Given the description of an element on the screen output the (x, y) to click on. 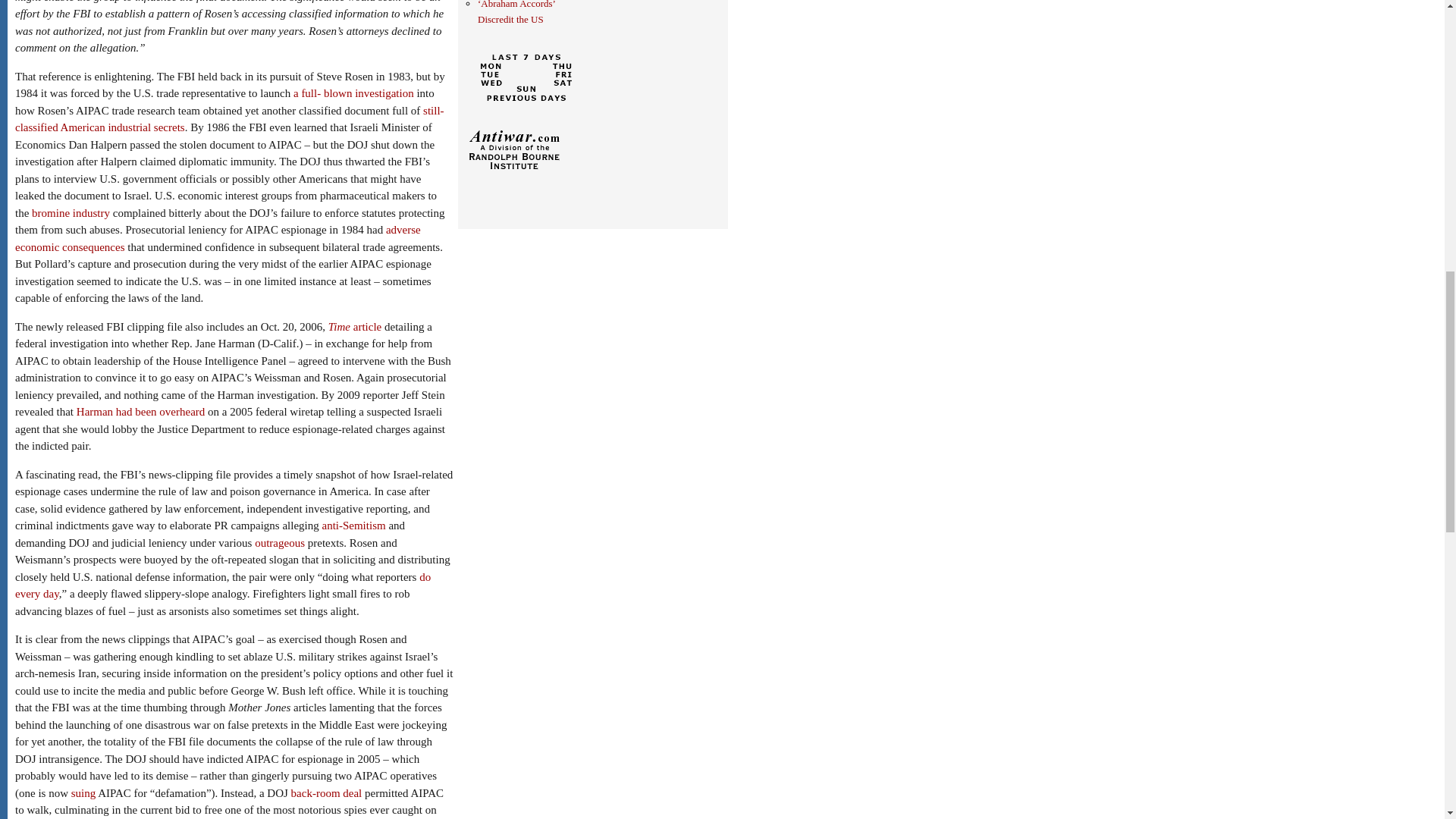
a full- blown investigation (353, 92)
bromine industry (71, 213)
still-classified American industrial secrets (229, 119)
